Given the description of an element on the screen output the (x, y) to click on. 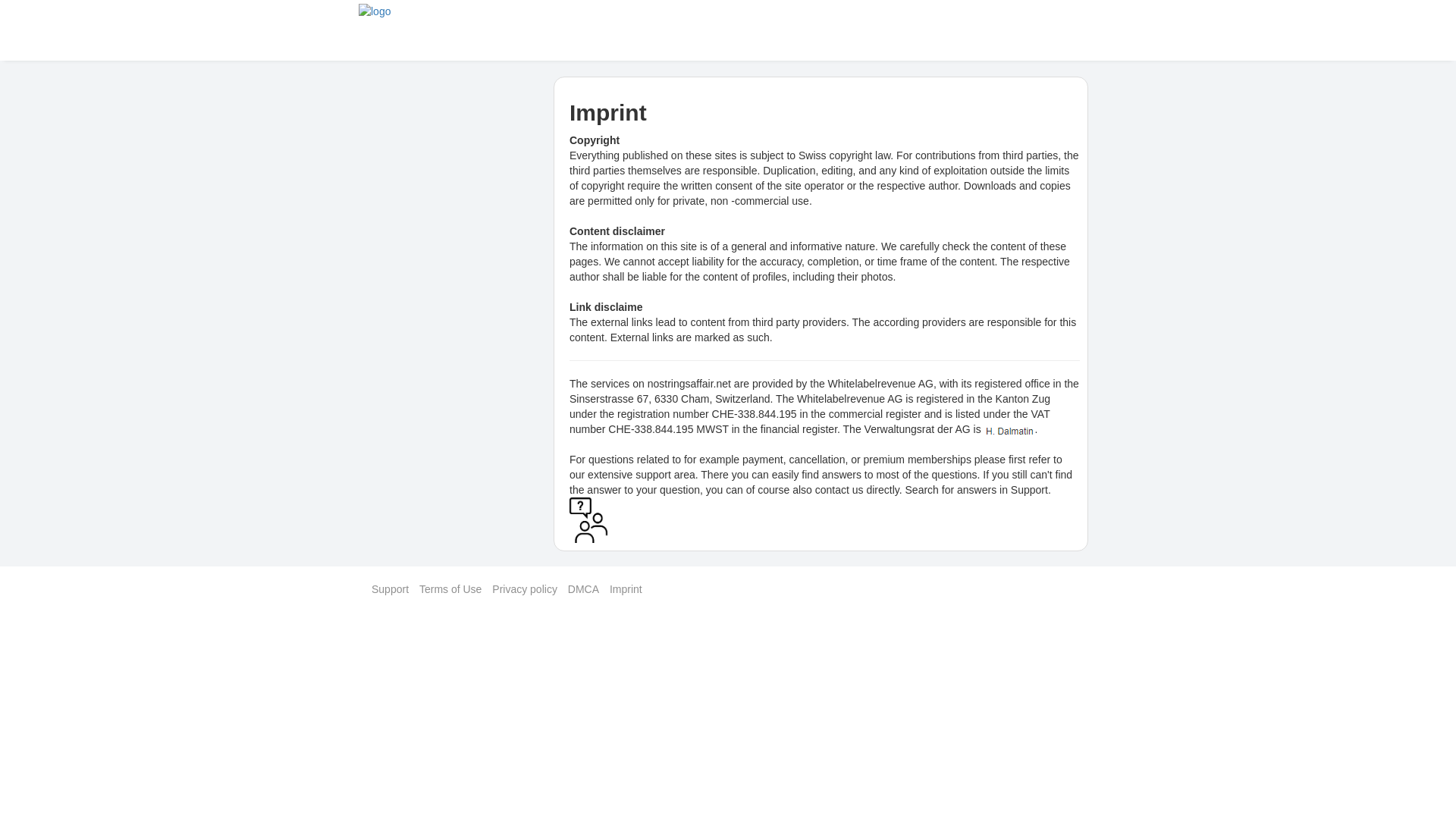
Terms of Use (450, 589)
Support (1029, 490)
Imprint (626, 589)
Privacy policy (524, 589)
Support (390, 589)
DMCA (582, 589)
